Given the description of an element on the screen output the (x, y) to click on. 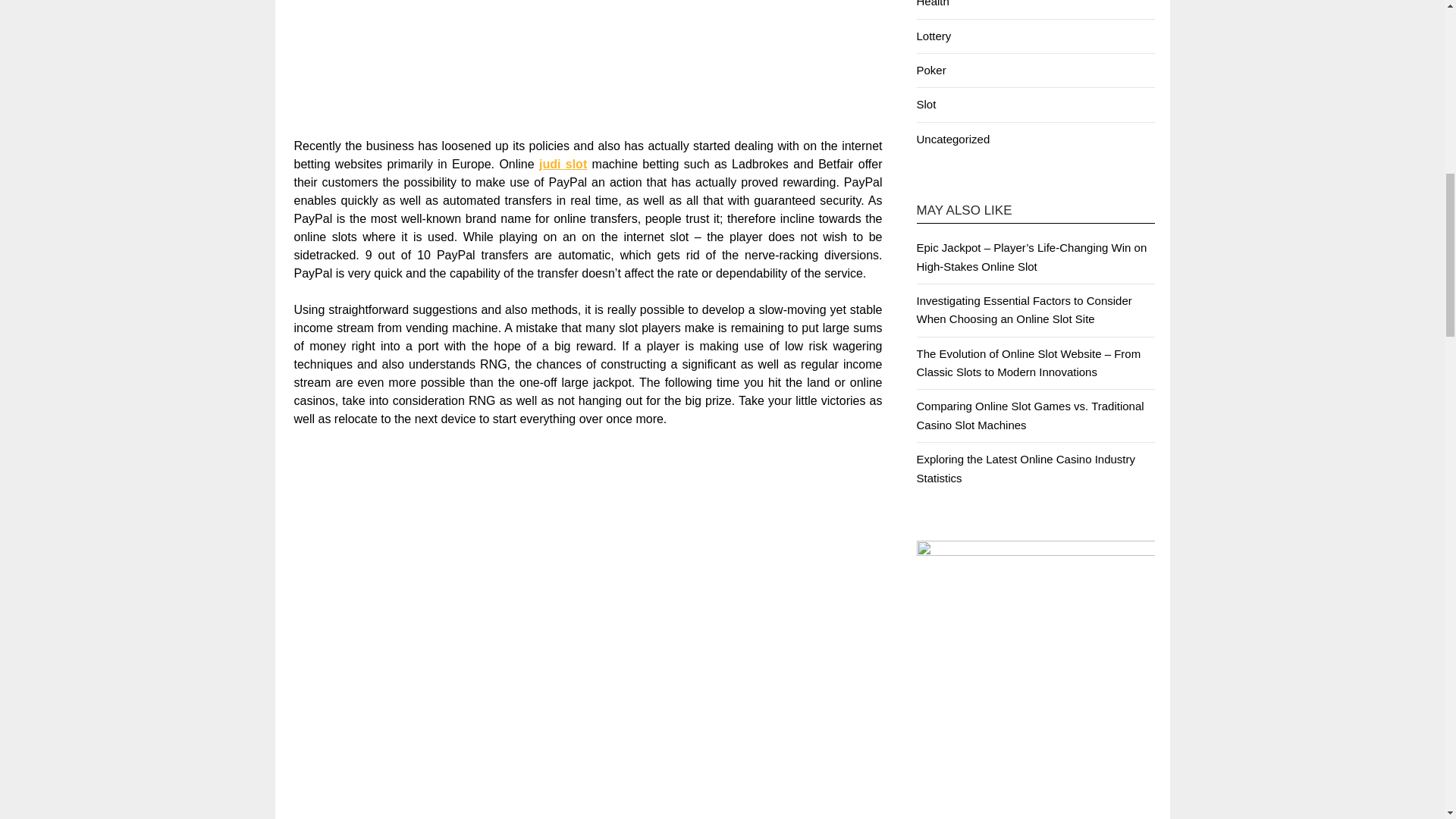
Lottery (932, 35)
Exploring the Latest Online Casino Industry Statistics (1025, 468)
Uncategorized (952, 138)
judi slot (562, 164)
Poker (929, 69)
Slot (925, 103)
Health (932, 3)
